Given the description of an element on the screen output the (x, y) to click on. 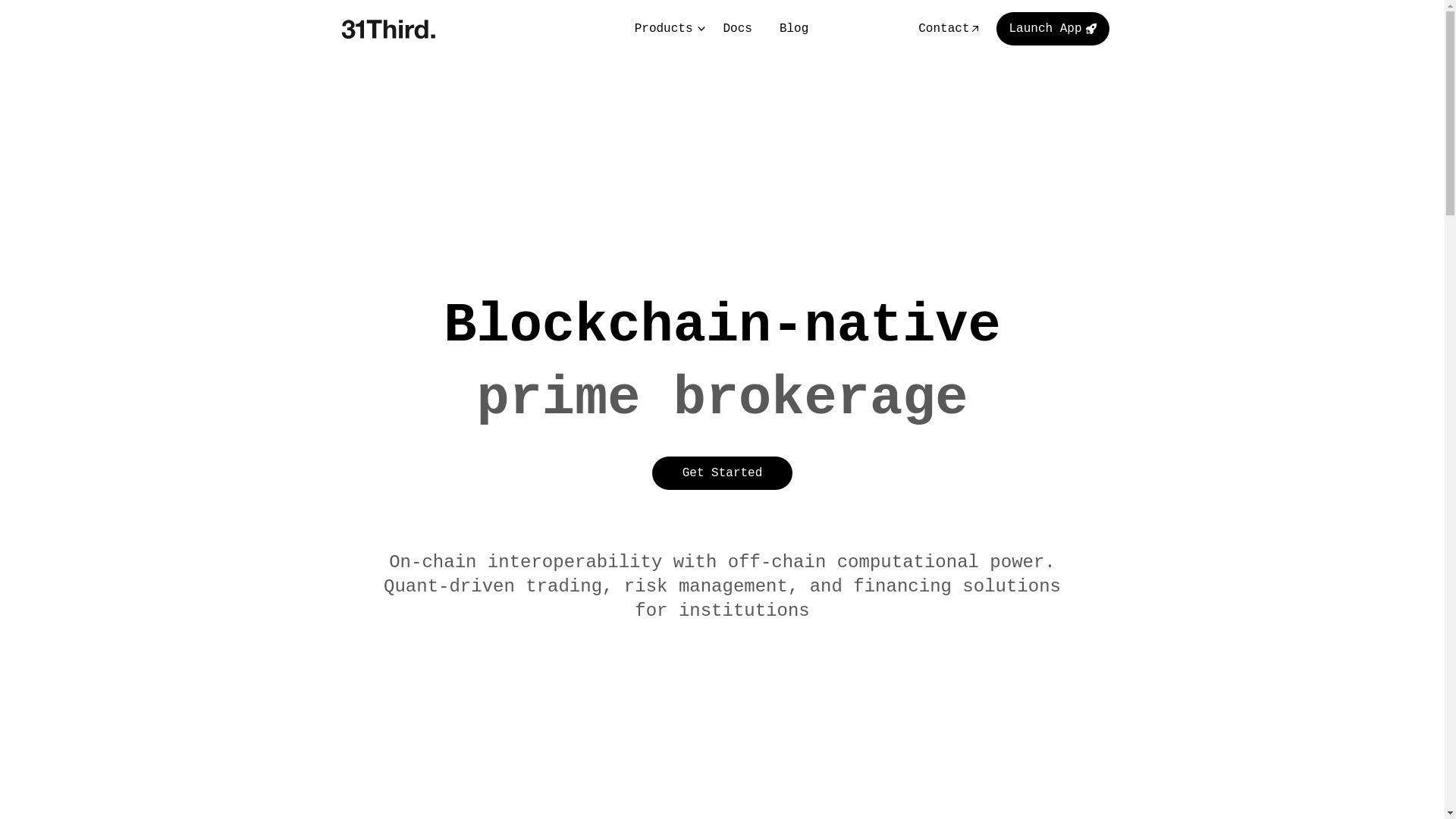
Launch App Element type: text (1052, 28)
Docs Element type: text (737, 28)
Blog Element type: text (793, 28)
Contact Element type: text (949, 28)
Get Started Element type: text (722, 472)
Products Element type: text (665, 28)
